Given the description of an element on the screen output the (x, y) to click on. 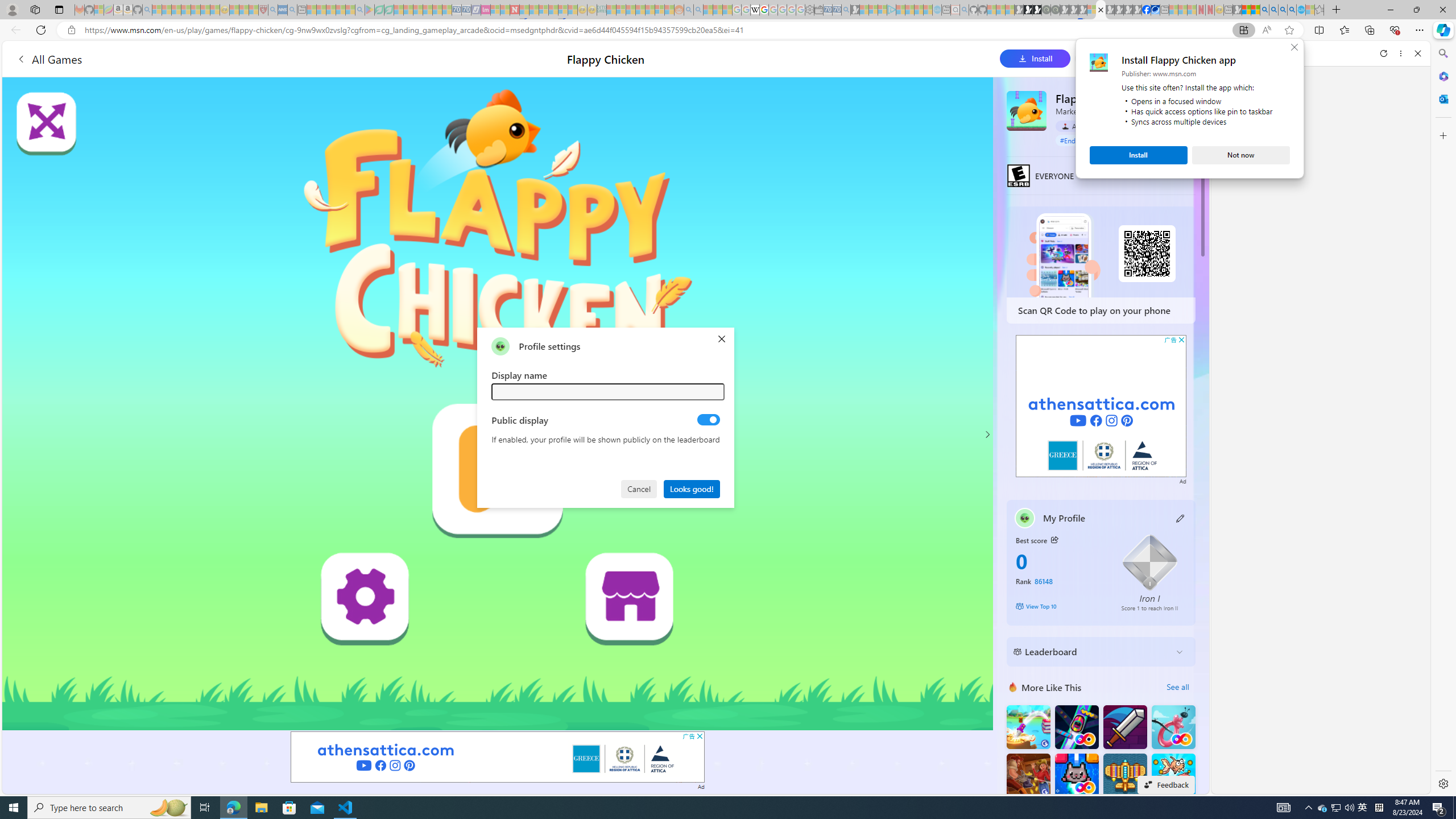
Bluey: Let's Play! - Apps on Google Play - Sleeping (369, 9)
All Games (49, 58)
Advertisement (1101, 405)
Notification Chevron (1308, 807)
